Given the description of an element on the screen output the (x, y) to click on. 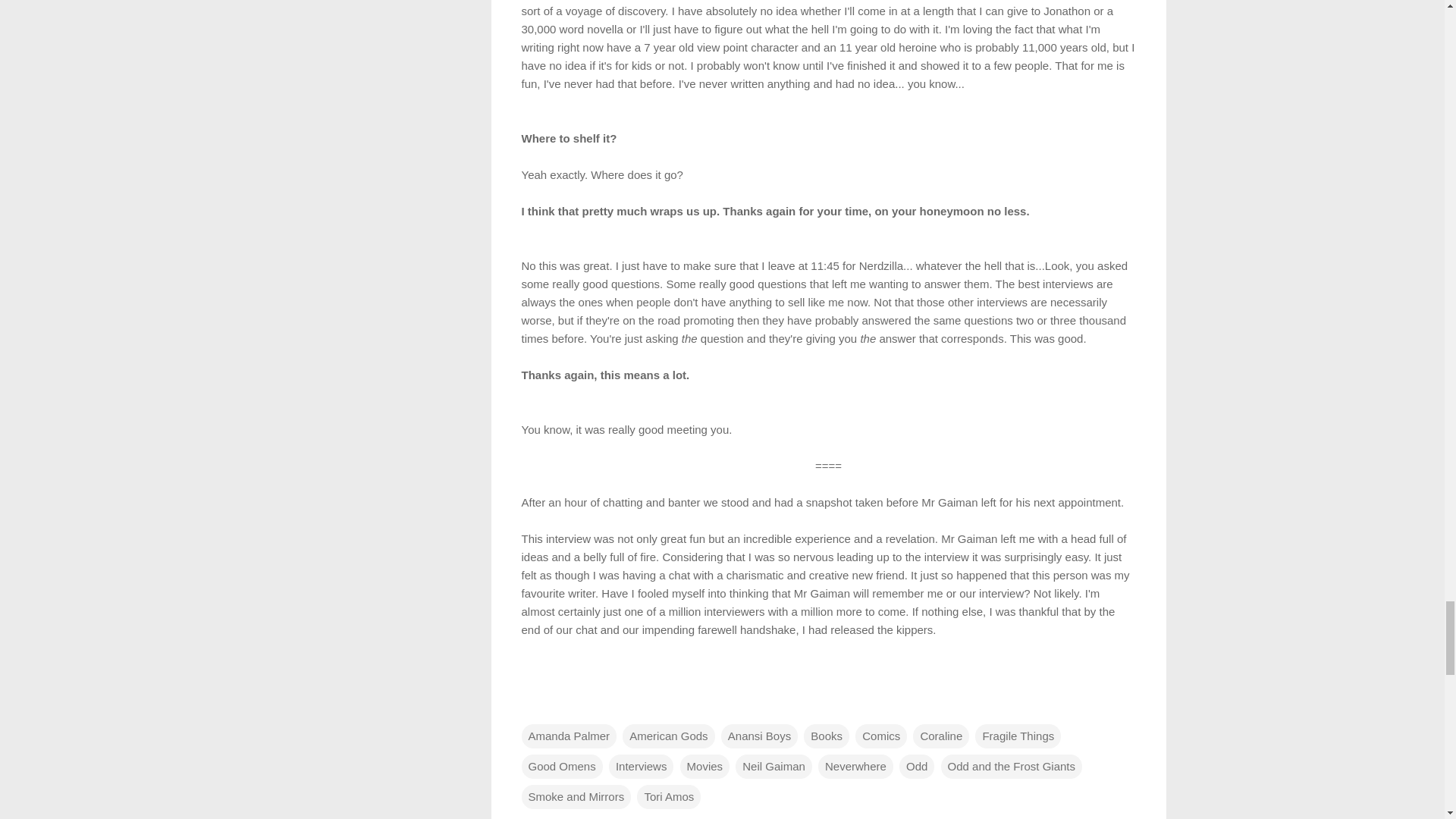
Interviews (641, 765)
Odd (916, 765)
Smoke and Mirrors (576, 795)
Good Omens (561, 765)
Email Post (530, 705)
Odd and the Frost Giants (1010, 765)
Amanda Palmer (569, 735)
Neverwhere (855, 765)
Anansi Boys (758, 735)
Fragile Things (1018, 735)
American Gods (668, 735)
Comics (881, 735)
Tori Amos (668, 795)
Coraline (940, 735)
Books (825, 735)
